Given the description of an element on the screen output the (x, y) to click on. 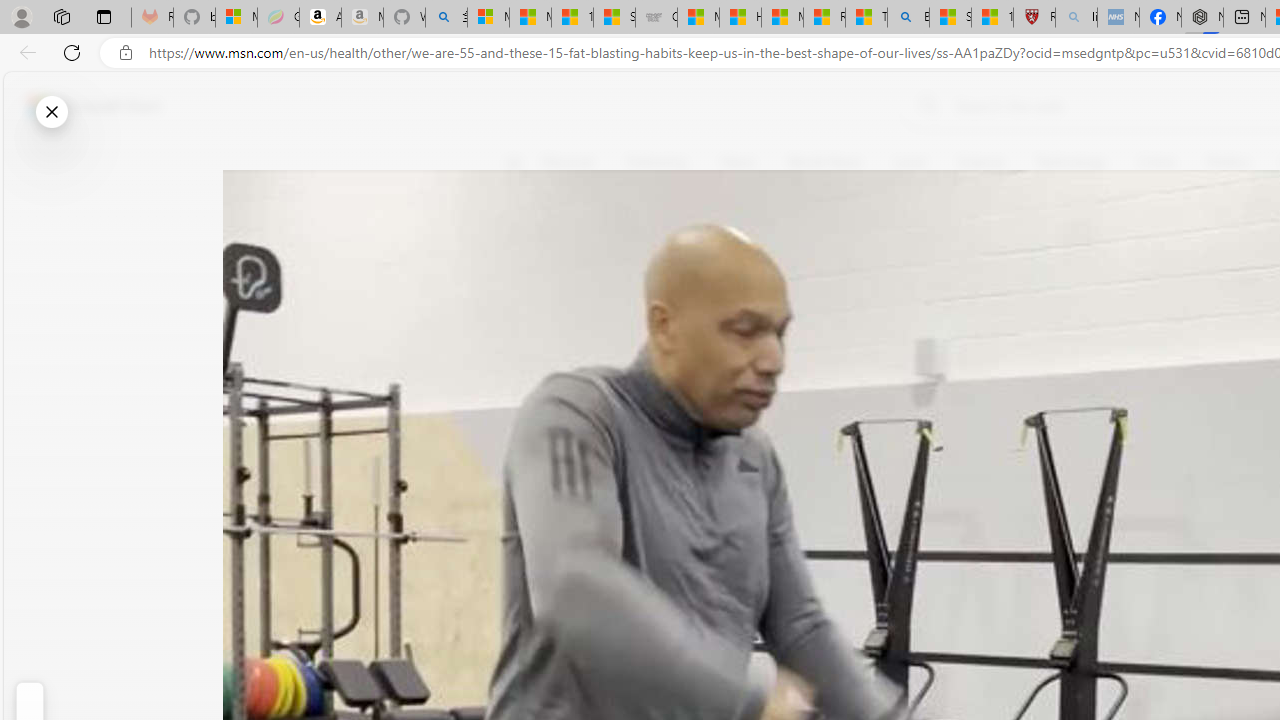
Technology (1071, 162)
Microsoft-Report a Concern to Bing (236, 17)
News (738, 162)
list of asthma inhalers uk - Search - Sleeping (1076, 17)
Science (980, 162)
Discover (568, 162)
Robert H. Shmerling, MD - Harvard Health (1033, 17)
Skip to footer (82, 105)
See more (525, 468)
Discover (575, 162)
World News (824, 162)
Local (910, 162)
Combat Siege (656, 17)
Politics (1228, 162)
